Given the description of an element on the screen output the (x, y) to click on. 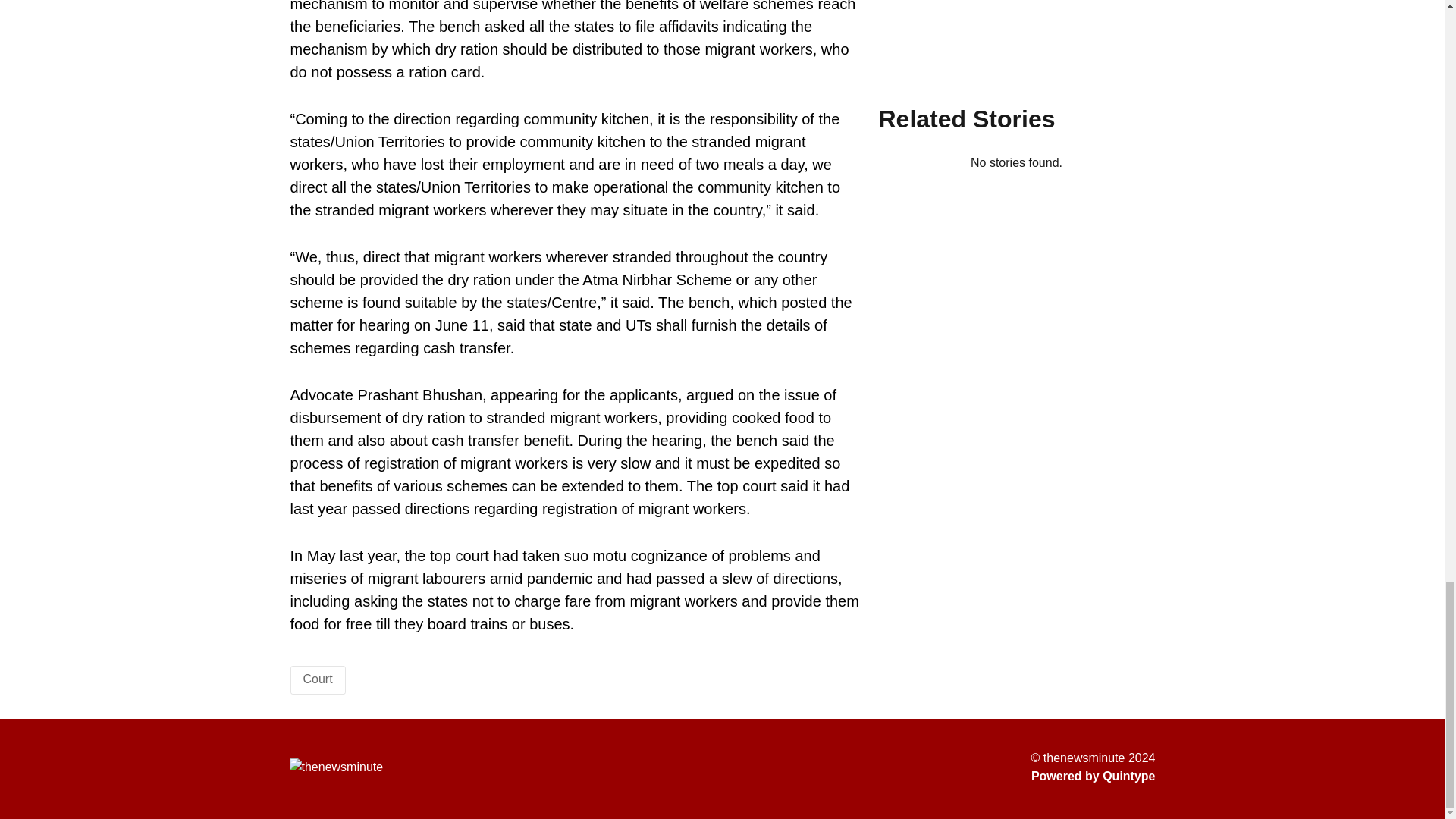
Court (317, 678)
Powered by Quintype (1093, 776)
